Given the description of an element on the screen output the (x, y) to click on. 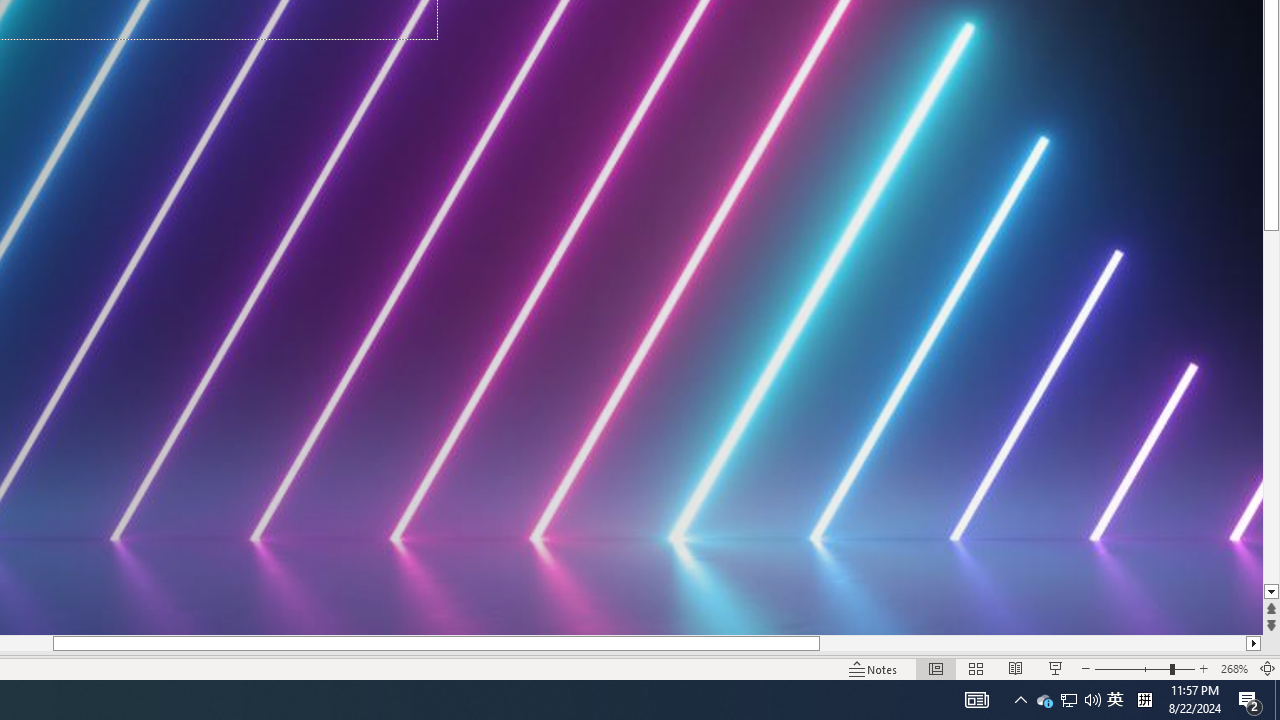
Zoom 268% (1234, 668)
